Given the description of an element on the screen output the (x, y) to click on. 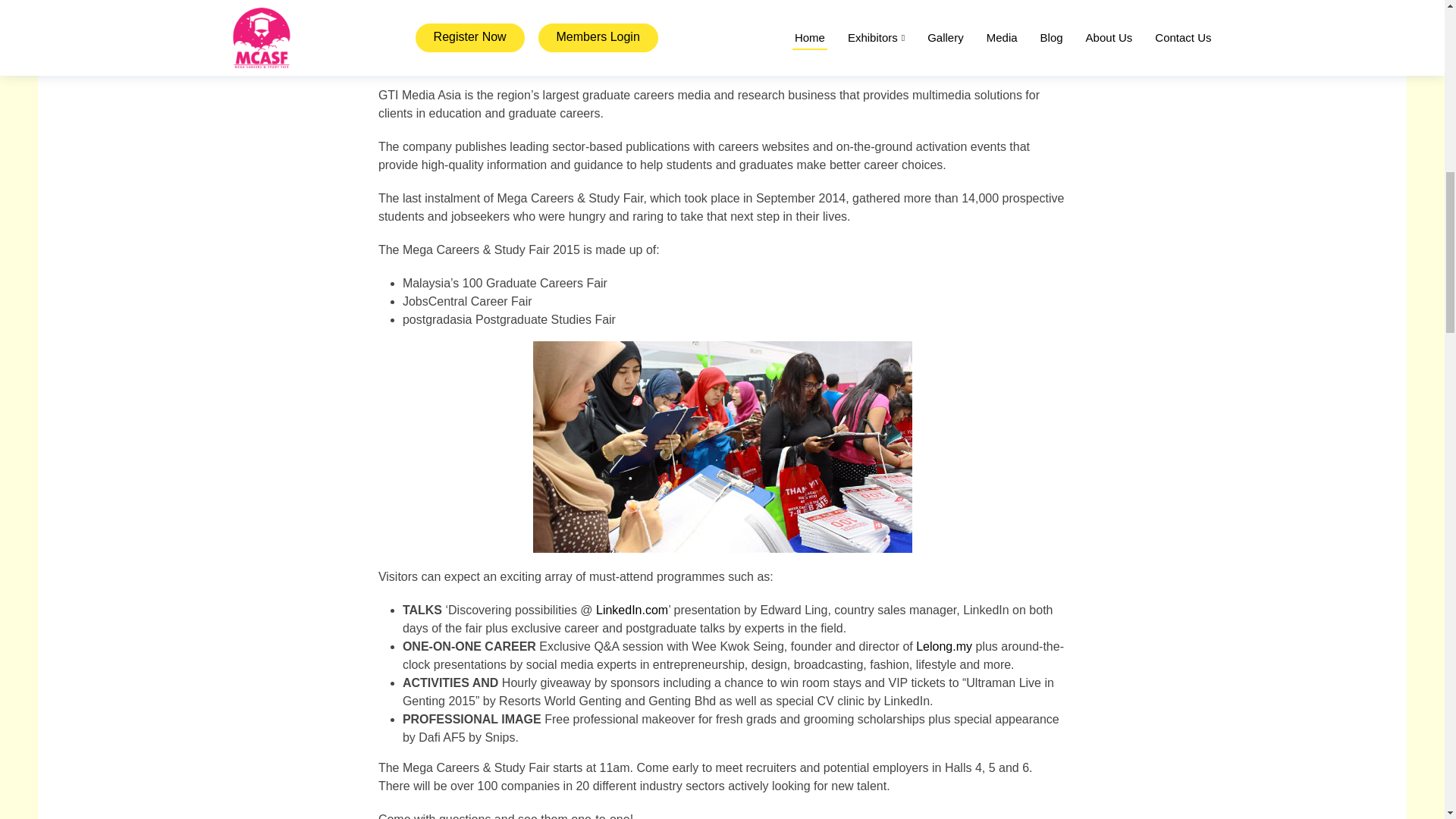
Lelong.my (943, 645)
LinkedIn.com (631, 609)
